Given the description of an element on the screen output the (x, y) to click on. 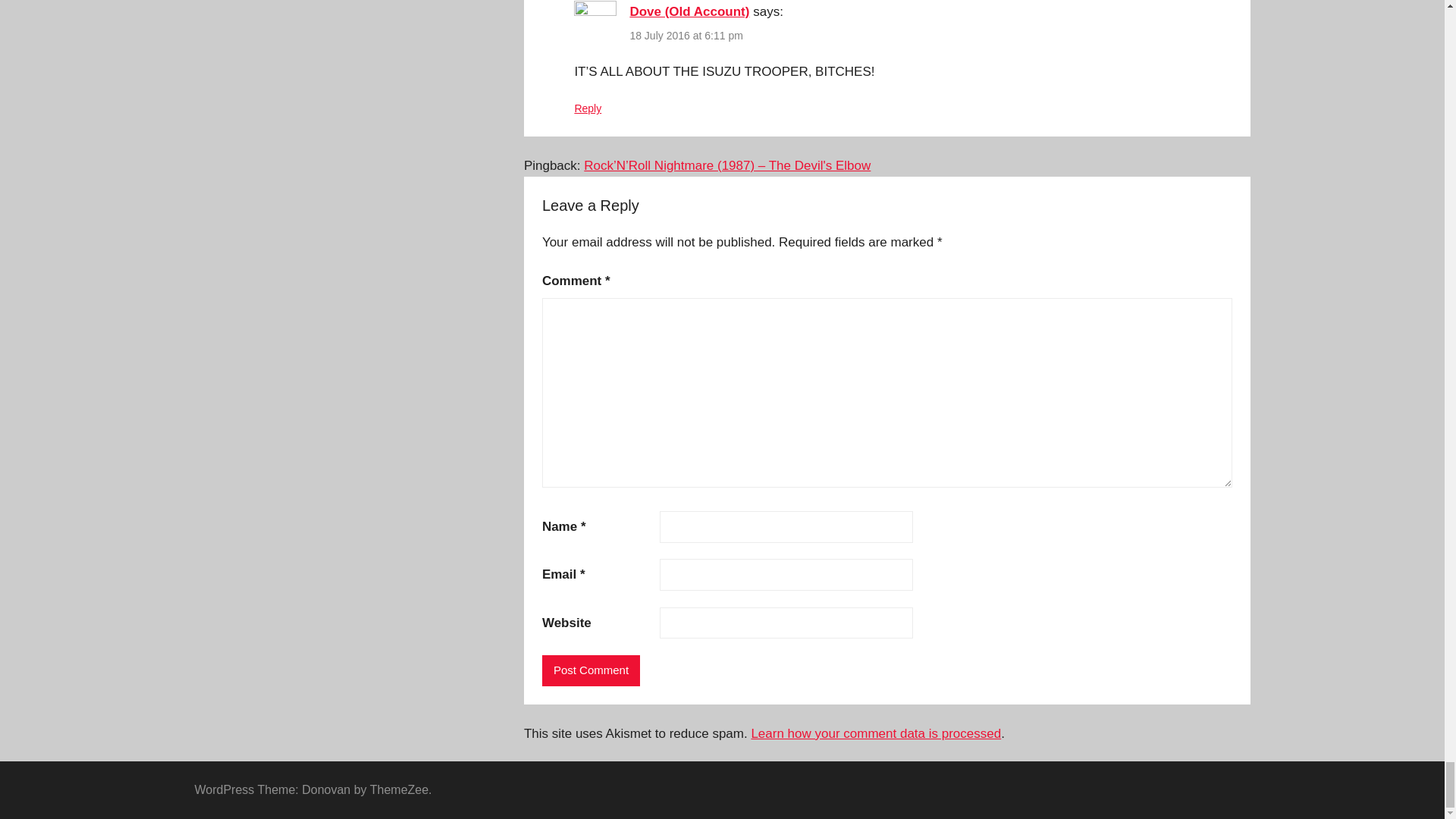
Post Comment (590, 670)
